Given the description of an element on the screen output the (x, y) to click on. 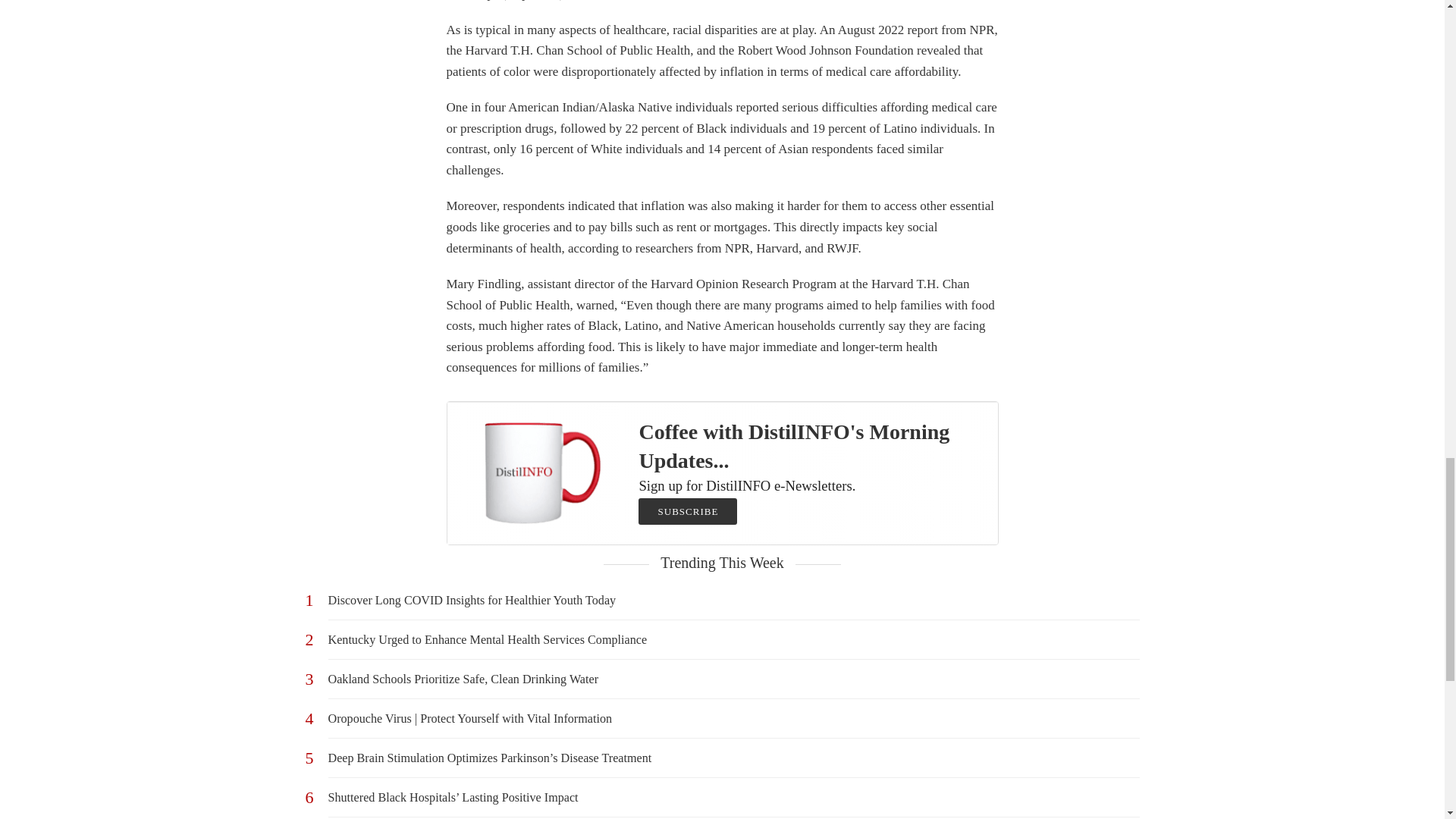
Discover Long COVID Insights for Healthier Youth Today (732, 600)
SUBSCRIBE (687, 510)
Kentucky Urged to Enhance Mental Health Services Compliance (732, 639)
Oakland Schools Prioritize Safe, Clean Drinking Water (732, 678)
